Given the description of an element on the screen output the (x, y) to click on. 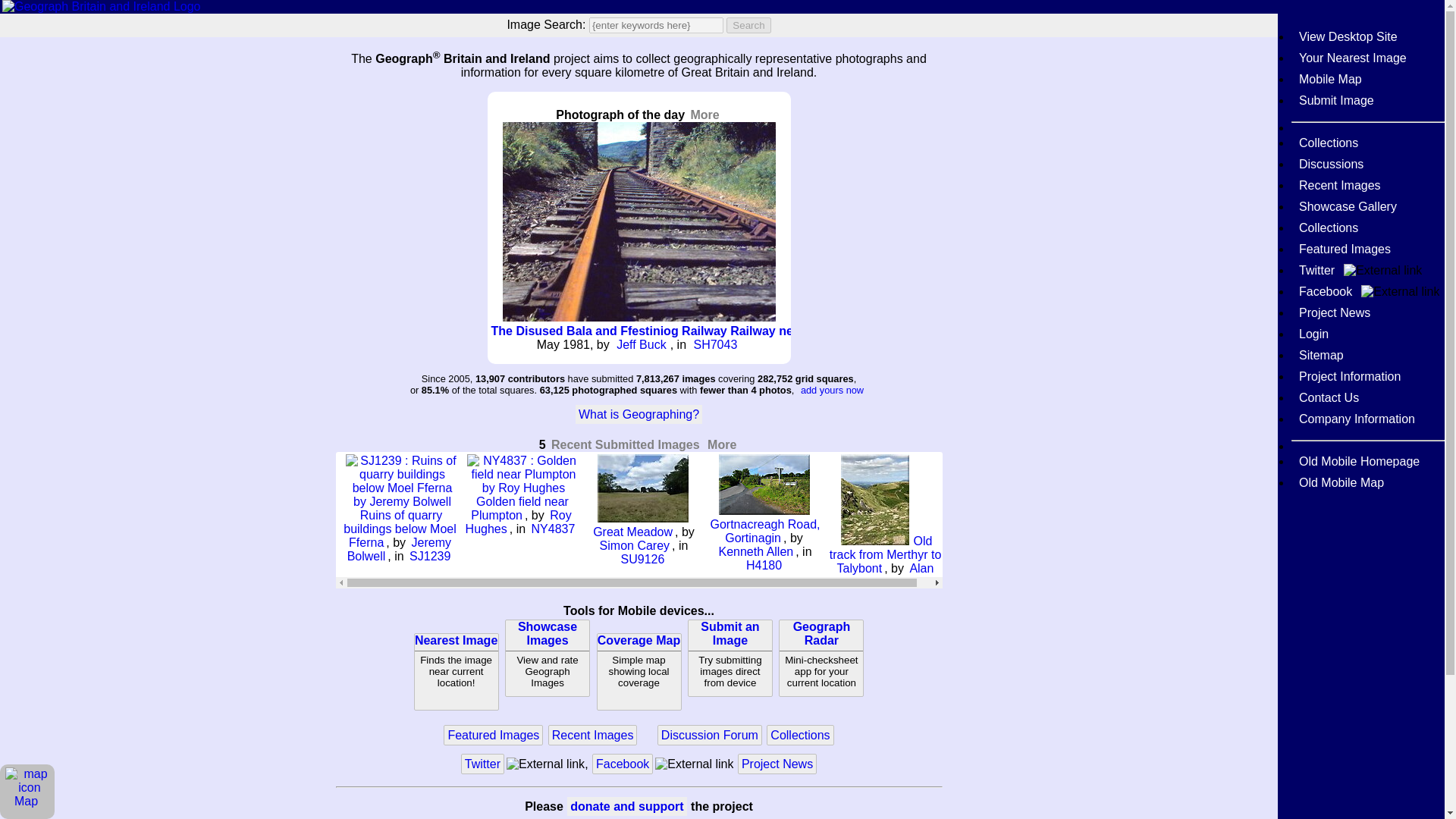
External link - shift click to open in new window (693, 764)
More (703, 114)
Kenneth Allen (456, 671)
Recent Submitted Images (755, 551)
Search (624, 444)
H4180 (748, 25)
Ruins of quarry buildings below Moel Fferna (730, 657)
Search (764, 565)
